Given the description of an element on the screen output the (x, y) to click on. 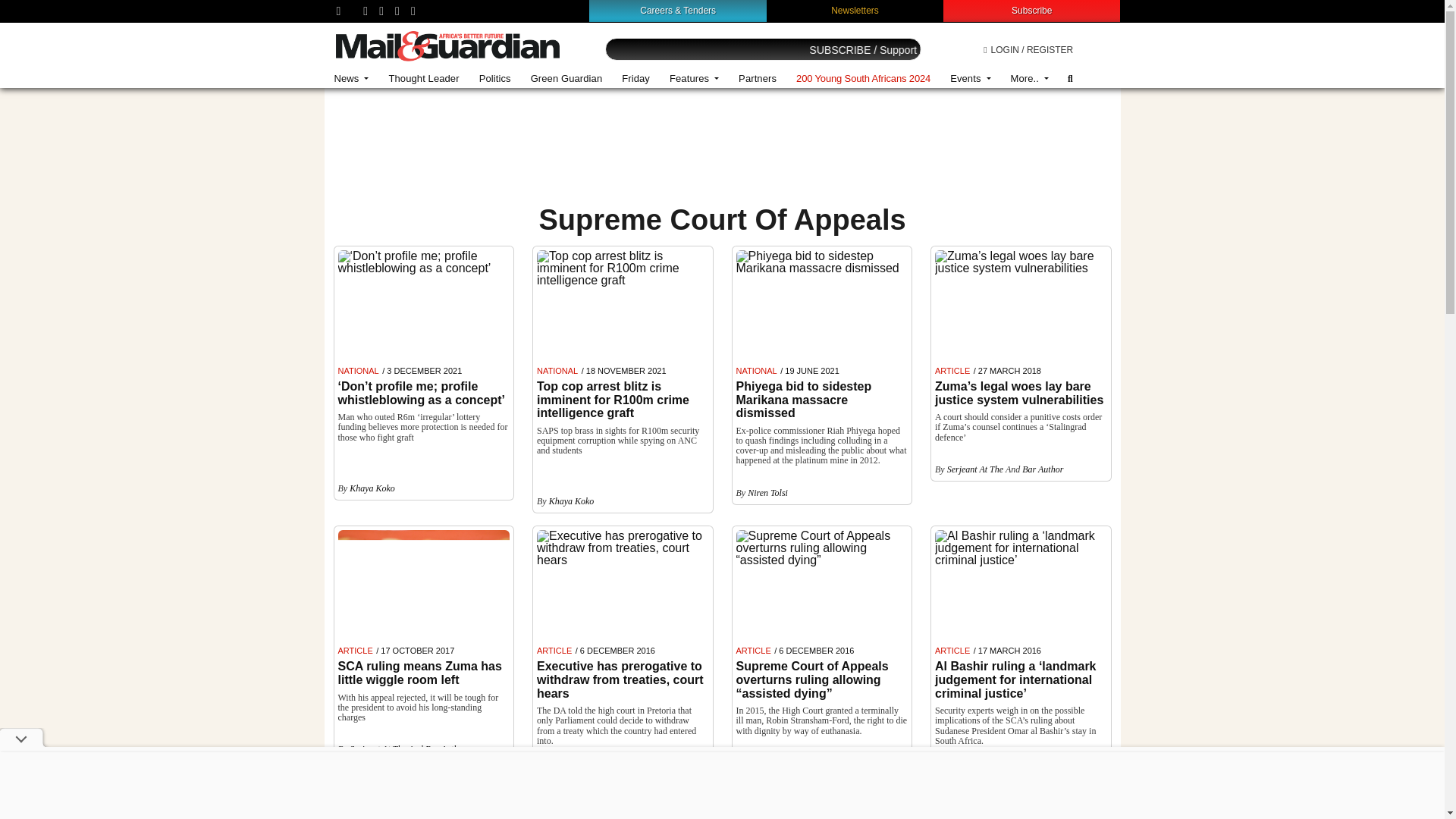
Politics (494, 78)
Friday (635, 78)
News (351, 78)
Subscribe (1031, 9)
Newsletters (855, 9)
News (351, 78)
Green Guardian (566, 78)
Thought Leader (423, 78)
